Given the description of an element on the screen output the (x, y) to click on. 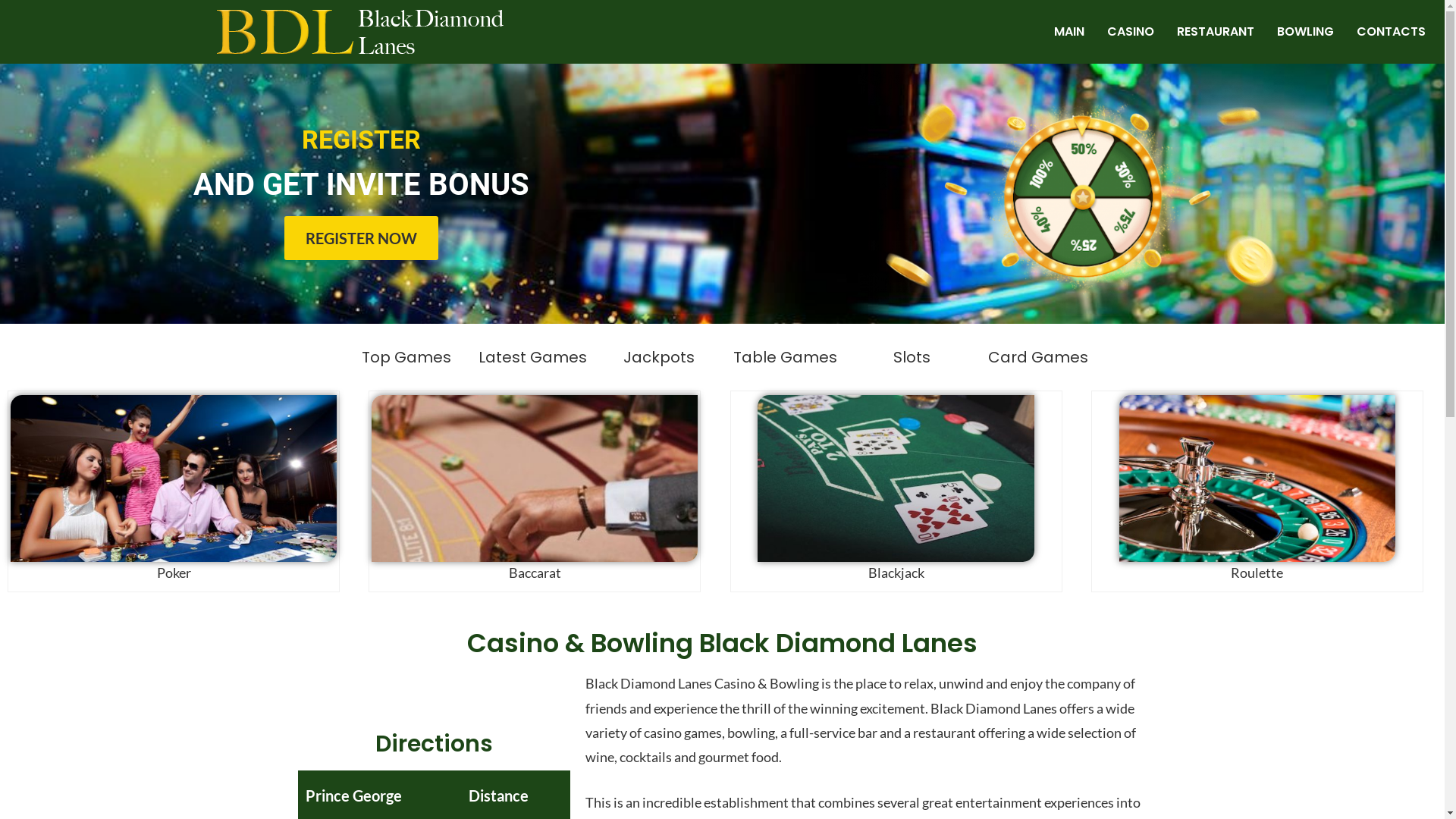
MAIN Element type: text (1068, 31)
BOWLING Element type: text (1305, 31)
CASINO Element type: text (1130, 31)
REGISTER NOW Element type: text (361, 238)
RESTAURANT Element type: text (1215, 31)
CONTACTS Element type: text (1391, 31)
